Given the description of an element on the screen output the (x, y) to click on. 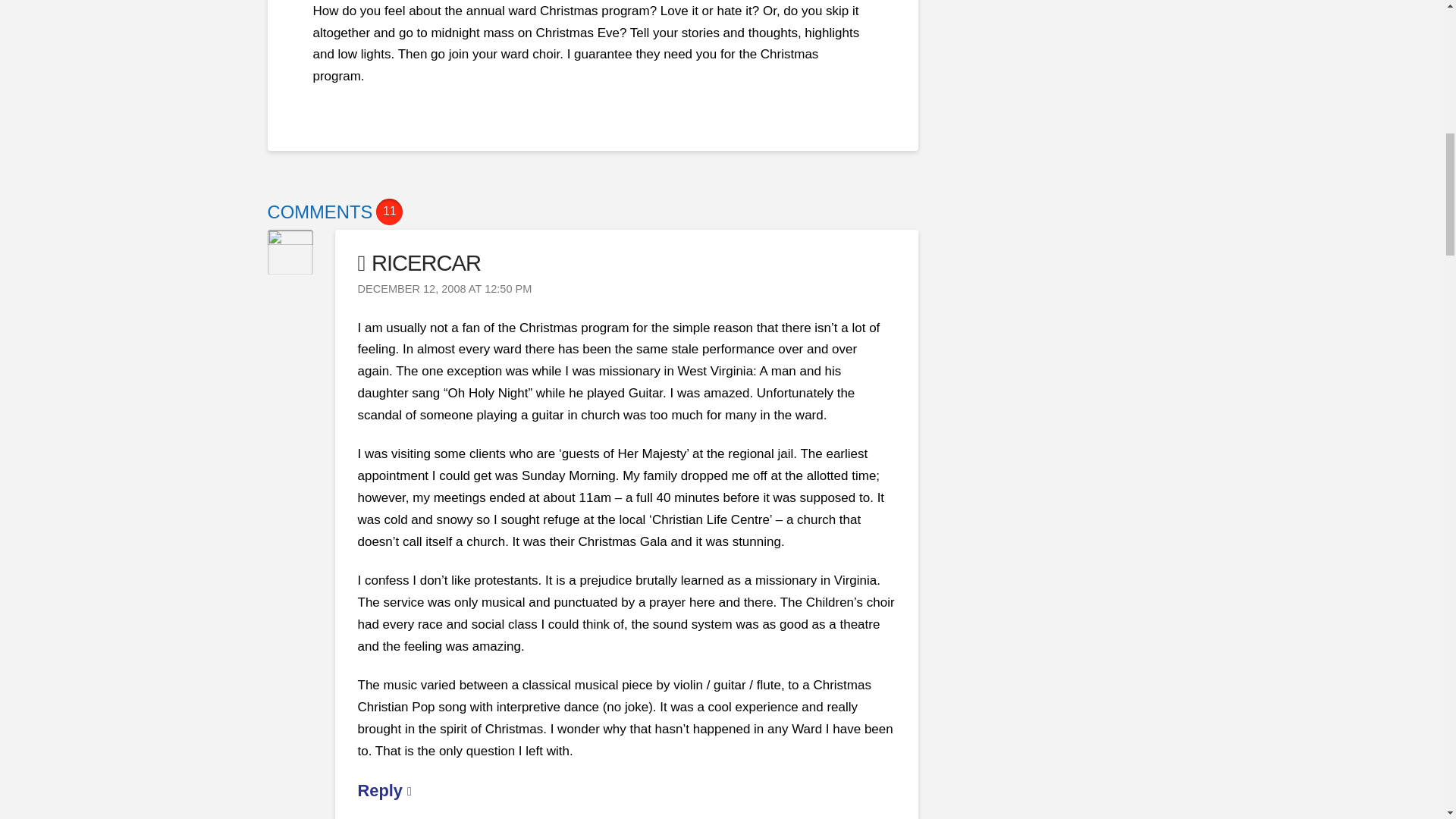
Reply (385, 790)
DECEMBER 12, 2008 AT 12:50 PM (445, 288)
RICERCAR (419, 262)
